Given the description of an element on the screen output the (x, y) to click on. 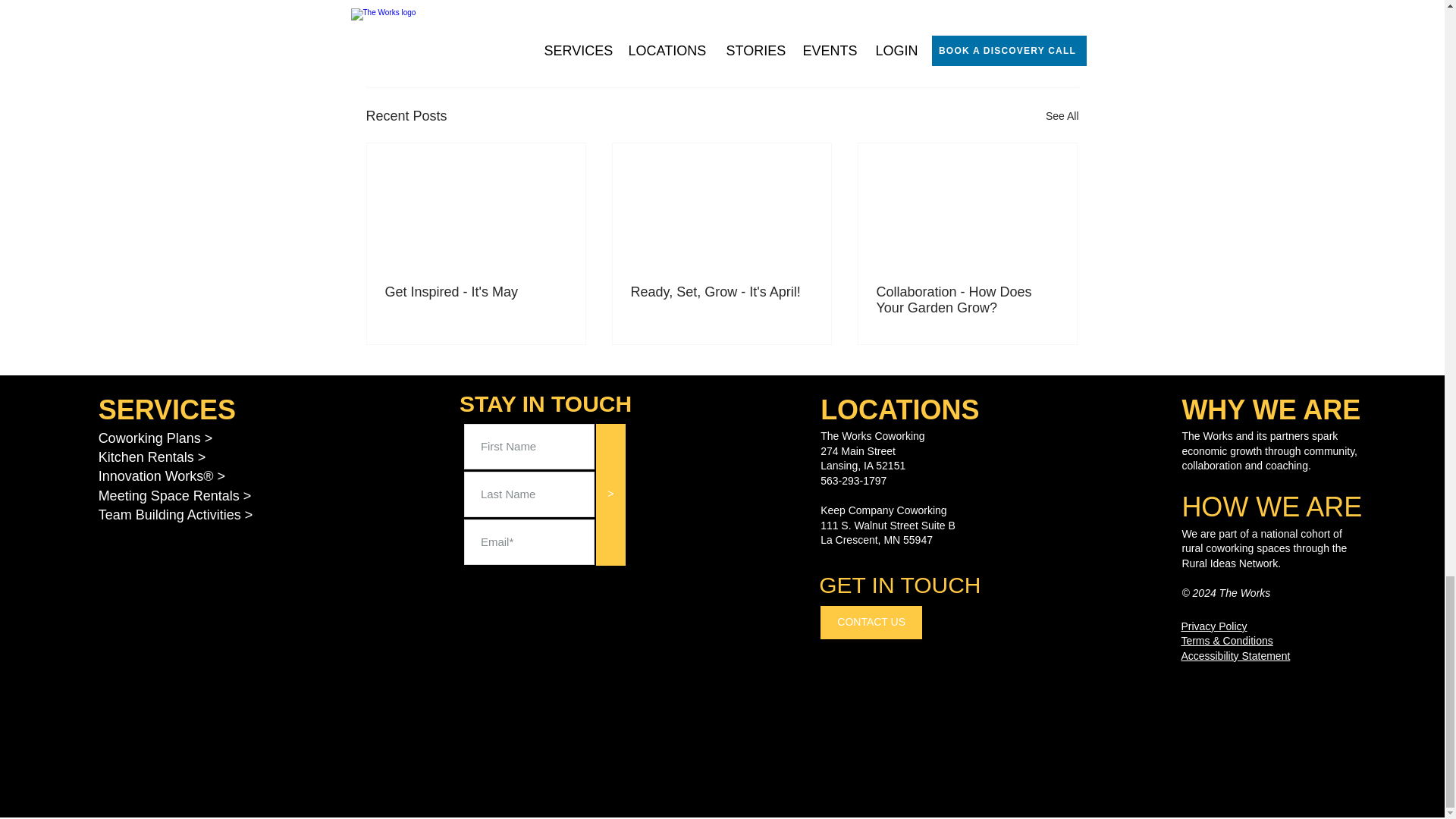
See All (1061, 116)
Ready, Set, Grow - It's April! (721, 292)
CONTACT US (871, 622)
Privacy Policy (1213, 625)
Collaboration - How Does Your Garden Grow? (967, 300)
Get Inspired - It's May (476, 292)
